Given the description of an element on the screen output the (x, y) to click on. 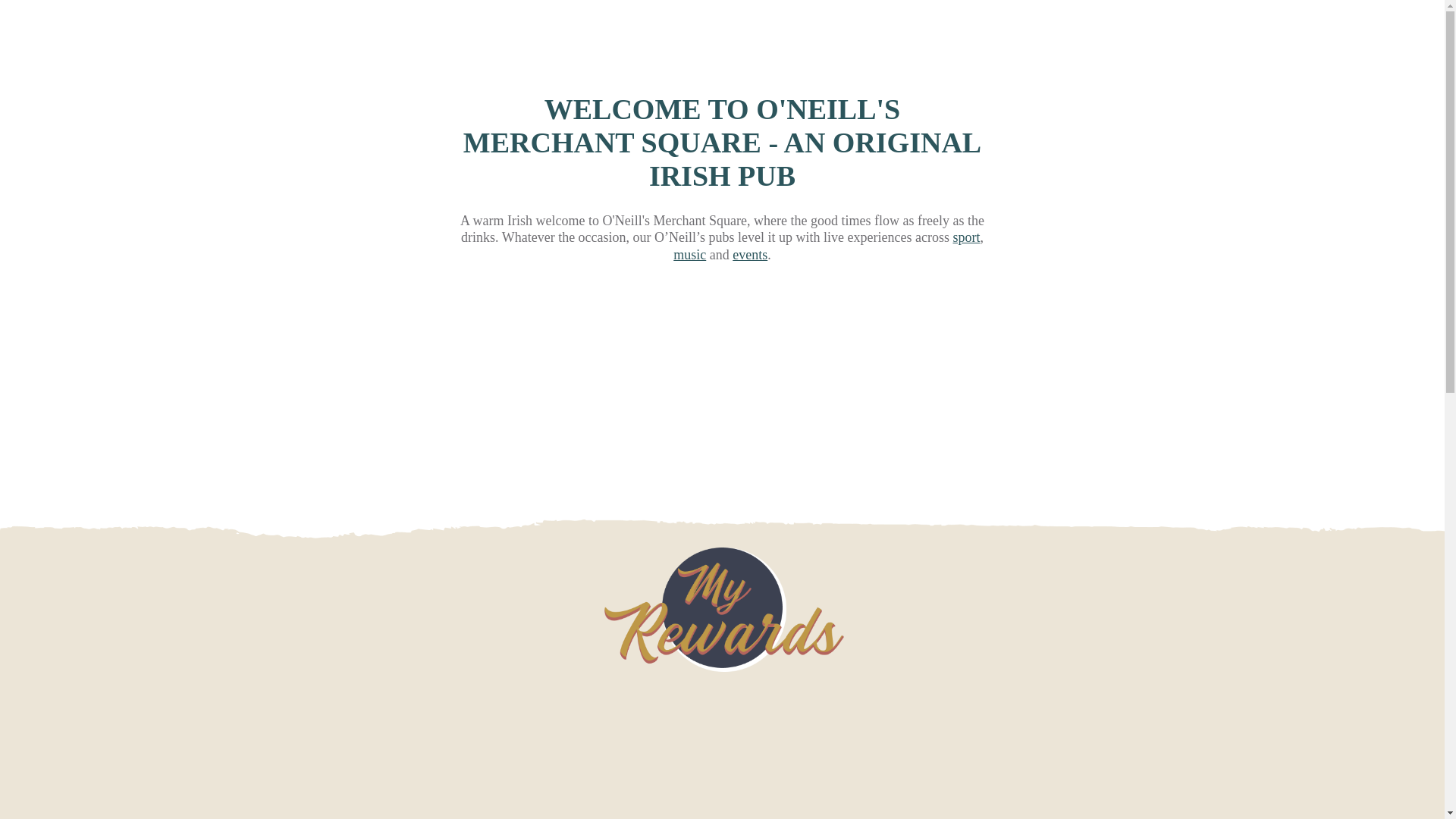
events (749, 254)
music (689, 254)
sport (965, 237)
